Given the description of an element on the screen output the (x, y) to click on. 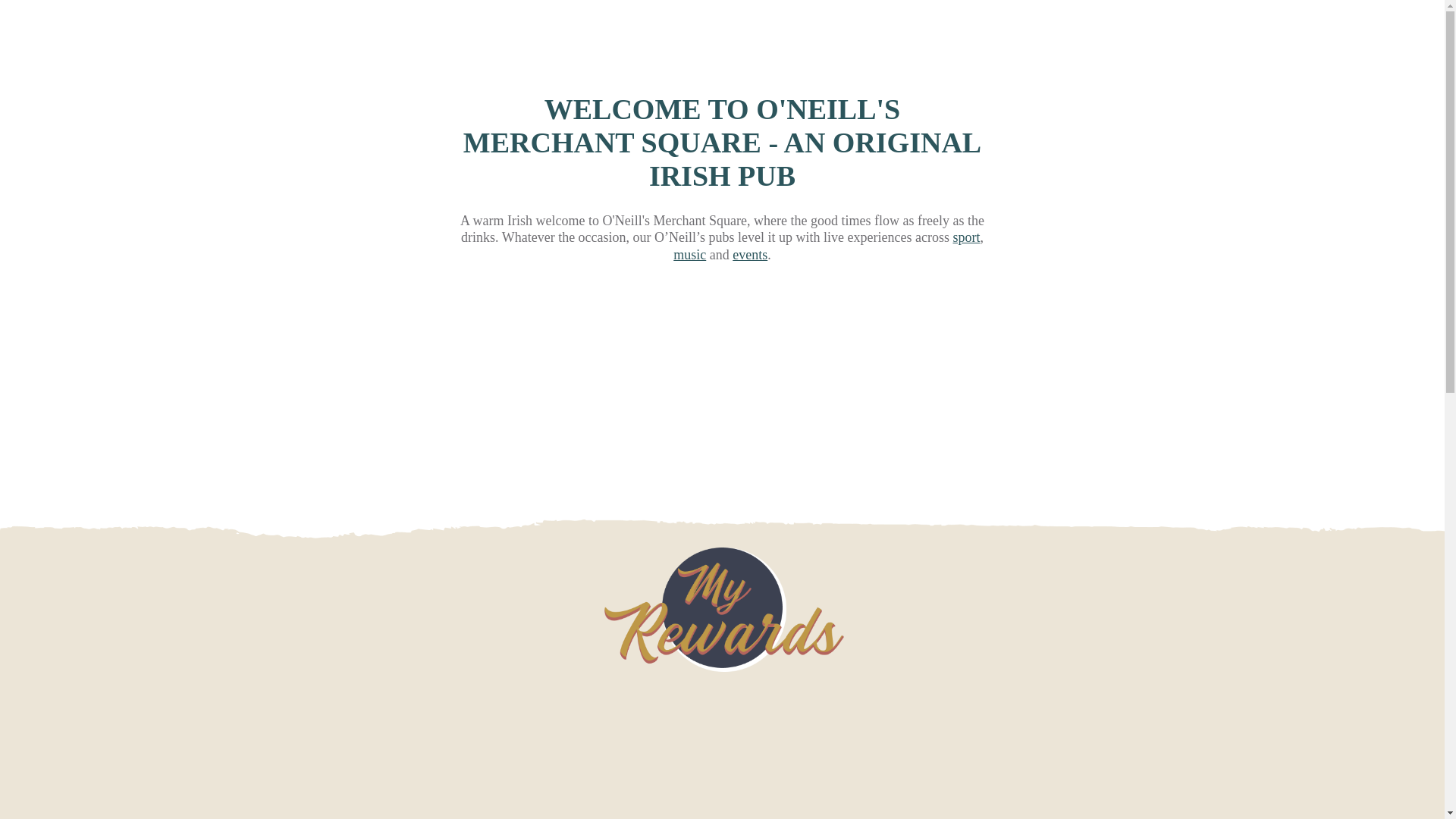
events (749, 254)
music (689, 254)
sport (965, 237)
